Given the description of an element on the screen output the (x, y) to click on. 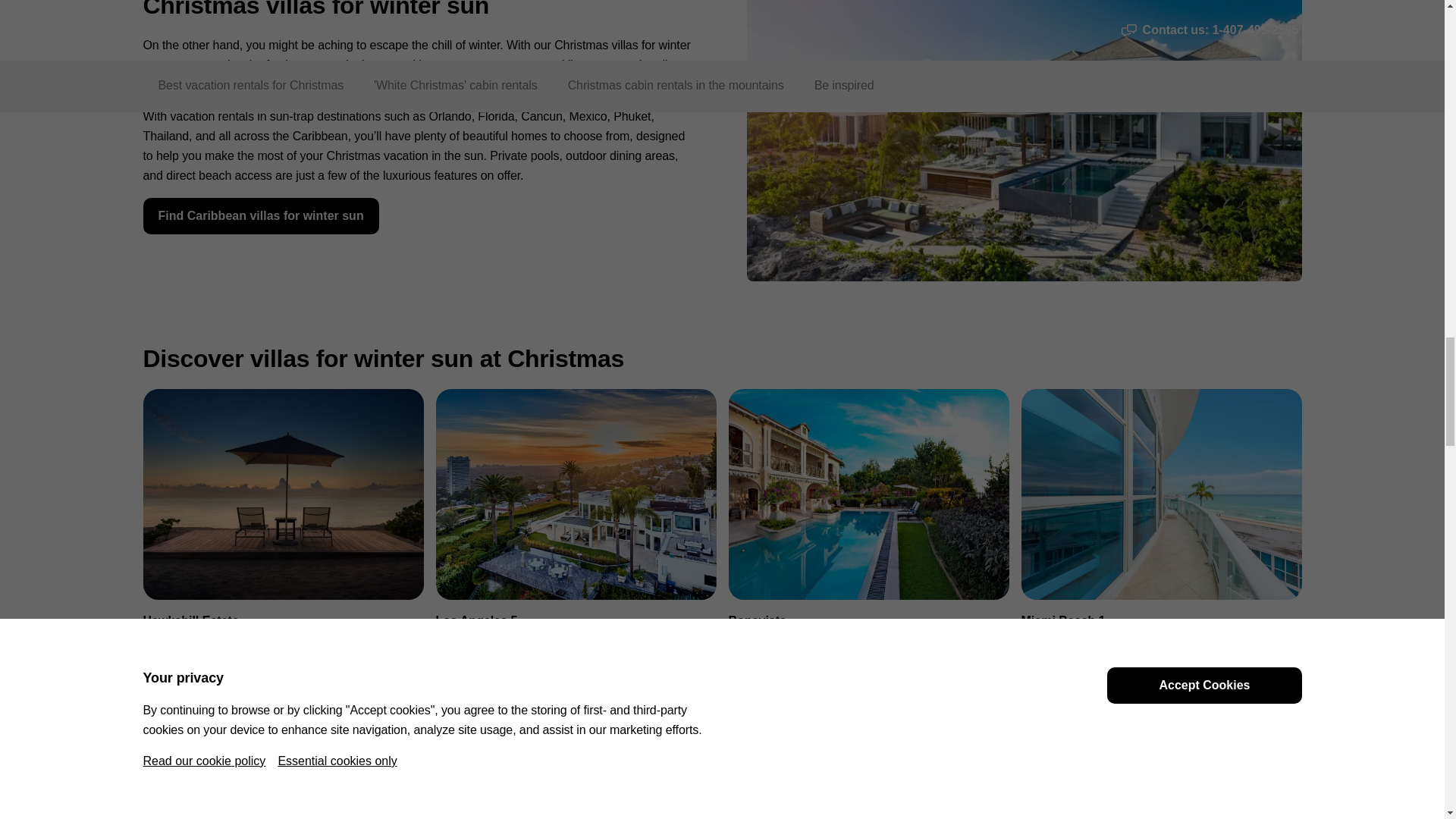
Bonavista (868, 532)
Hawksbill Estate (282, 532)
Los Angeles 5 (575, 532)
Miami Beach 1 (1160, 532)
